Given the description of an element on the screen output the (x, y) to click on. 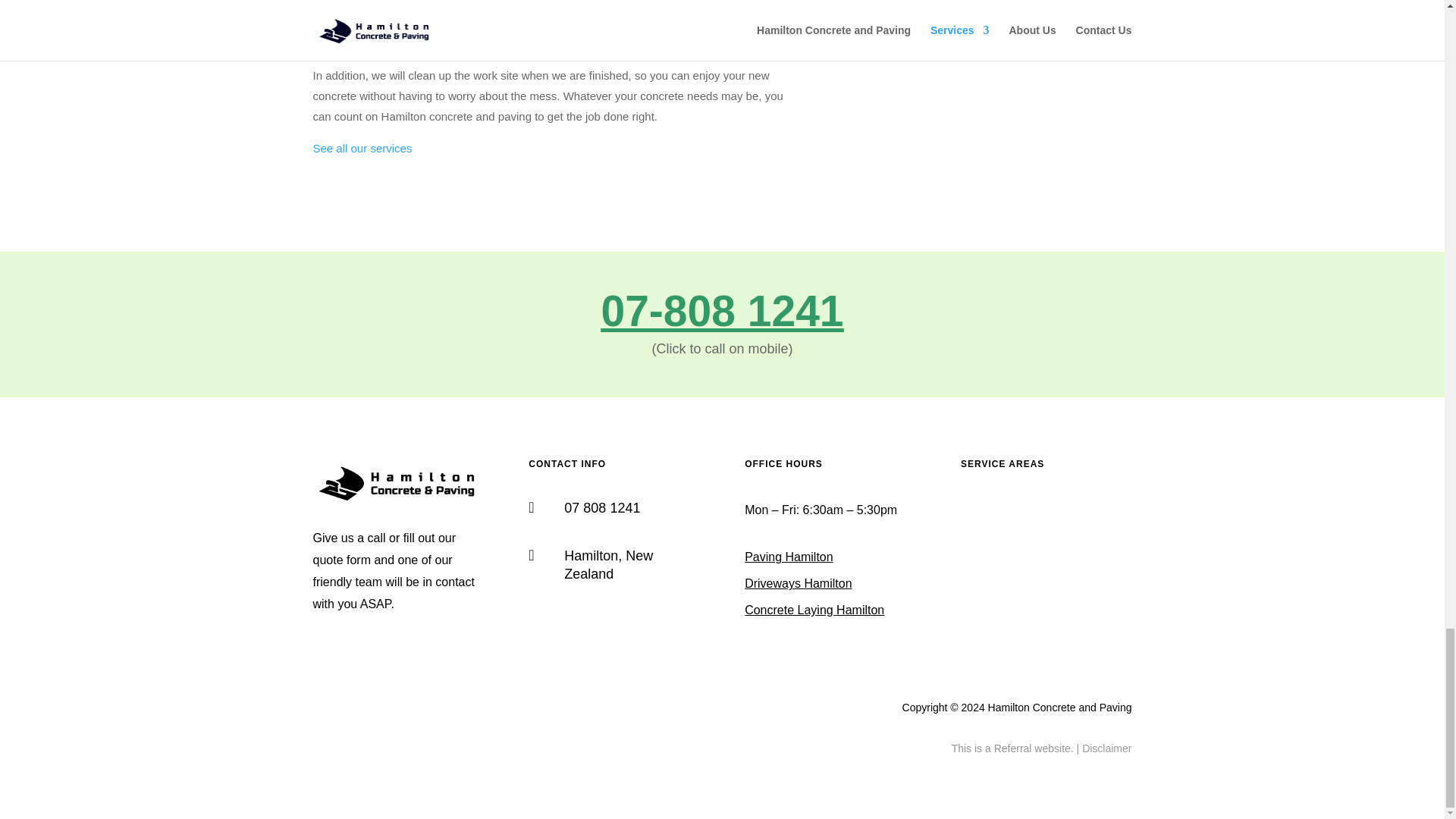
Disclaimer (1106, 748)
See all our services (362, 147)
07-808 1241 (721, 310)
Driveways Hamilton (797, 583)
07 808 1241 (602, 507)
Hamilton, New Zealand (608, 563)
Concrete Laying Hamilton (813, 609)
Hamilton-Concrete-and-Paving-Logo-Long-1 (398, 501)
Paving Hamilton (788, 556)
